Given the description of an element on the screen output the (x, y) to click on. 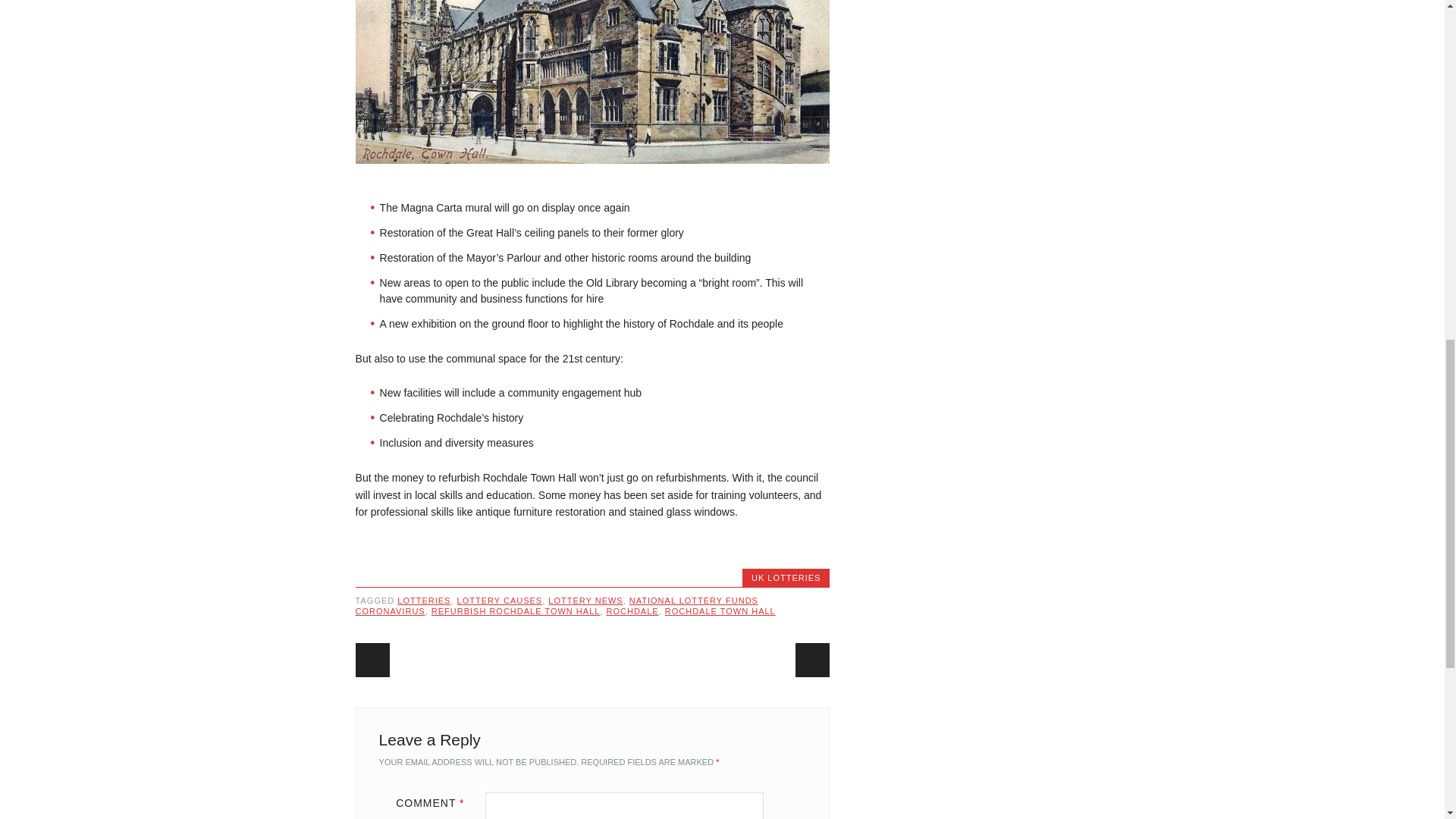
ROCHDALE (633, 610)
ROCHDALE TOWN HALL (720, 610)
LOTTERY NEWS (585, 600)
LOTTERY CAUSES (500, 600)
UK LOTTERIES (786, 577)
REFURBISH ROCHDALE TOWN HALL (514, 610)
NATIONAL LOTTERY FUNDS CORONAVIRUS (556, 605)
LOTTERIES (423, 600)
